Given the description of an element on the screen output the (x, y) to click on. 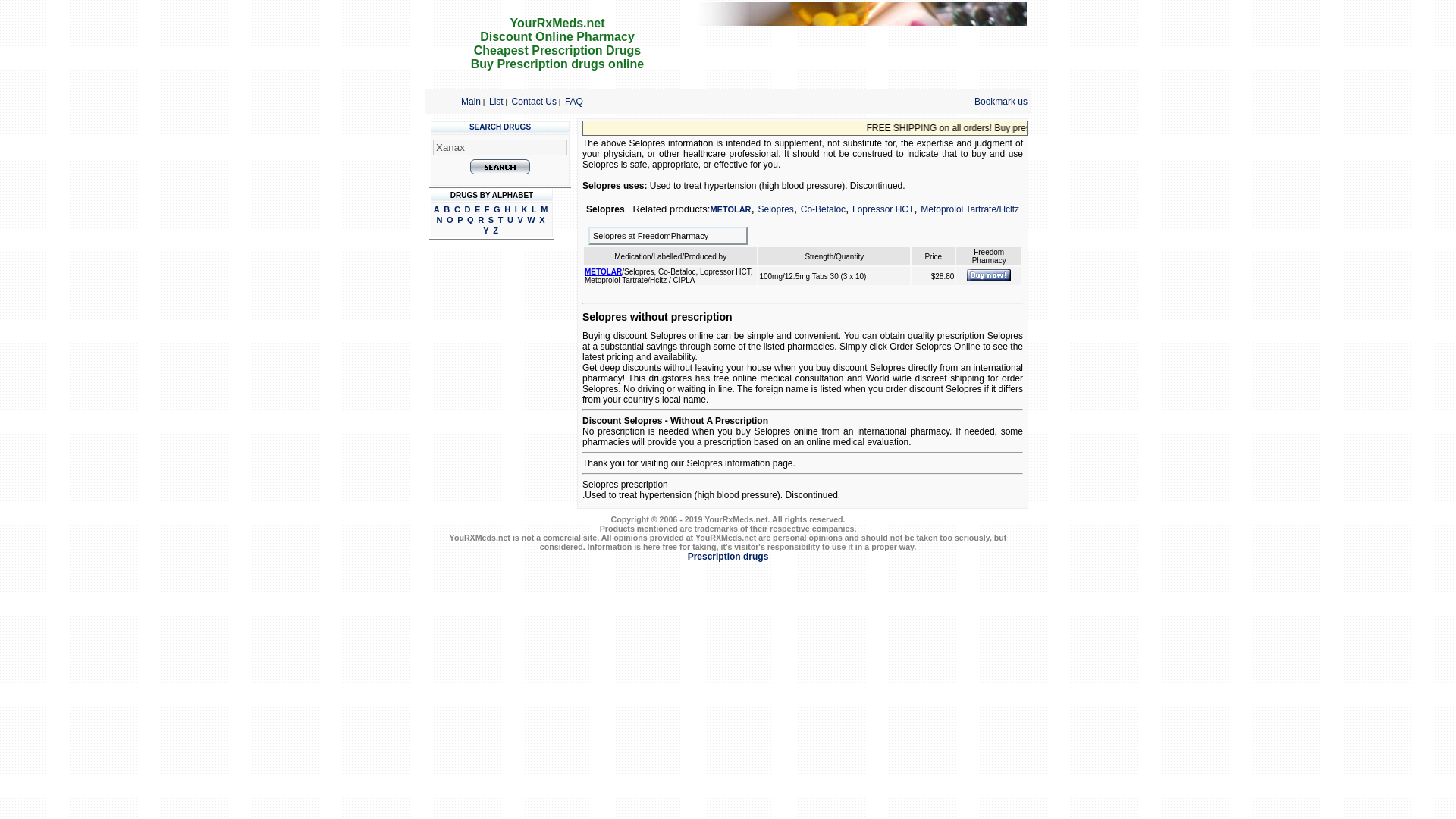
METOLAR (603, 271)
List (496, 100)
Main (470, 100)
Contact Us (534, 100)
Lopressor HCT (882, 208)
Co-Betaloc (822, 208)
search (499, 166)
Selopres (775, 208)
METOLAR (730, 208)
Bookmark us (1000, 101)
METOLAR without prescription (988, 275)
FAQ (573, 100)
Prescription drugs (727, 556)
Xanax (499, 147)
